Given the description of an element on the screen output the (x, y) to click on. 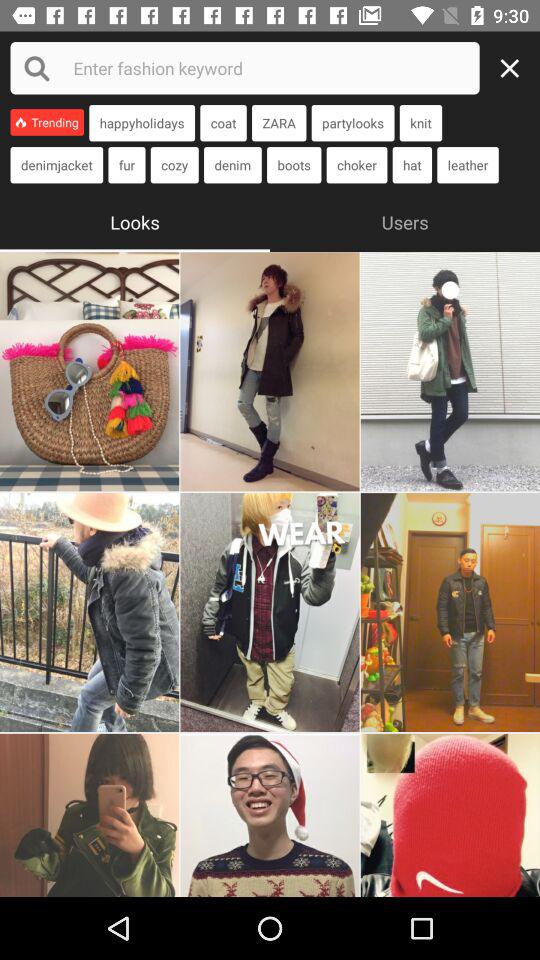
enlarge photo (450, 371)
